Given the description of an element on the screen output the (x, y) to click on. 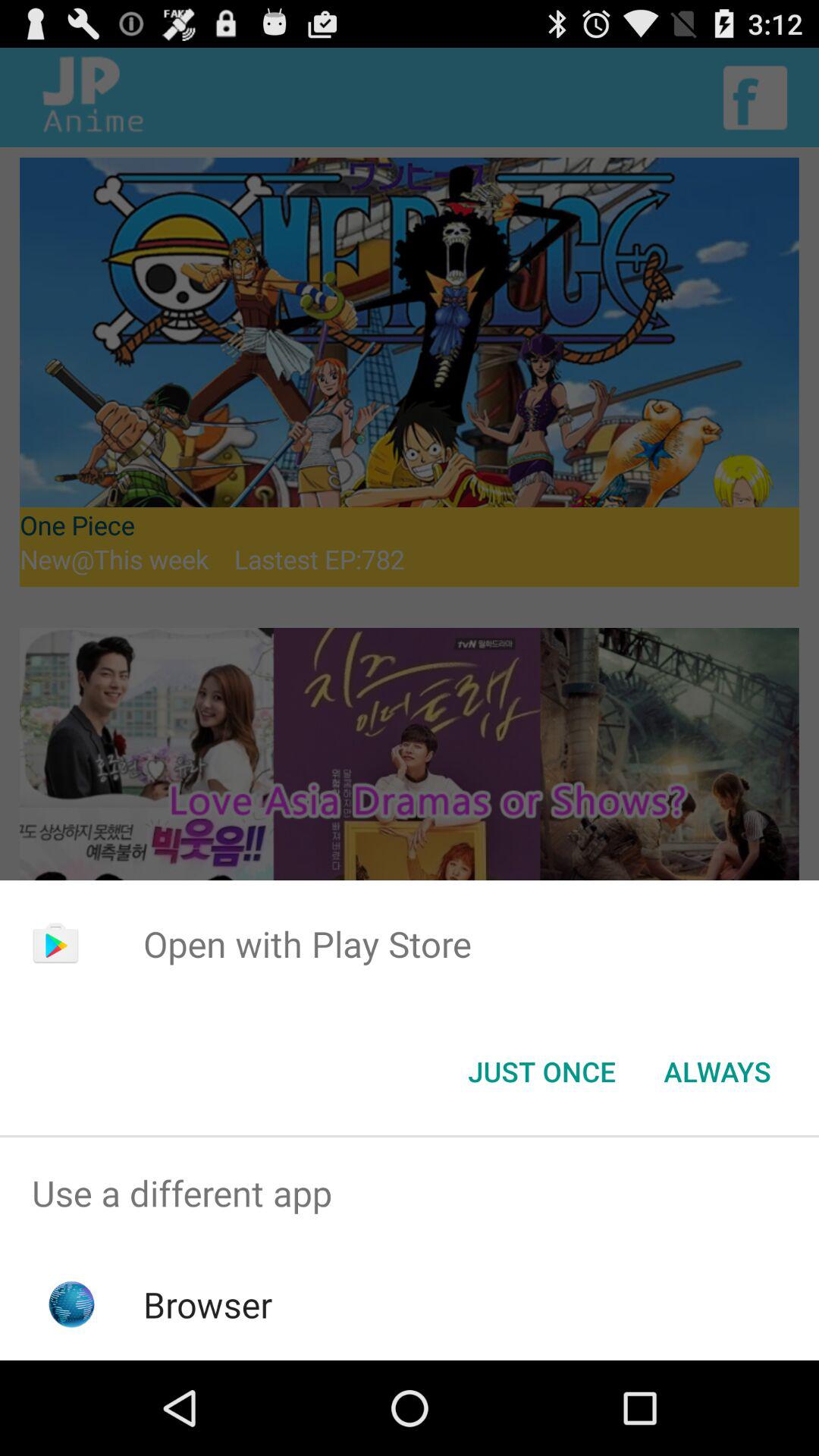
launch browser item (207, 1304)
